Given the description of an element on the screen output the (x, y) to click on. 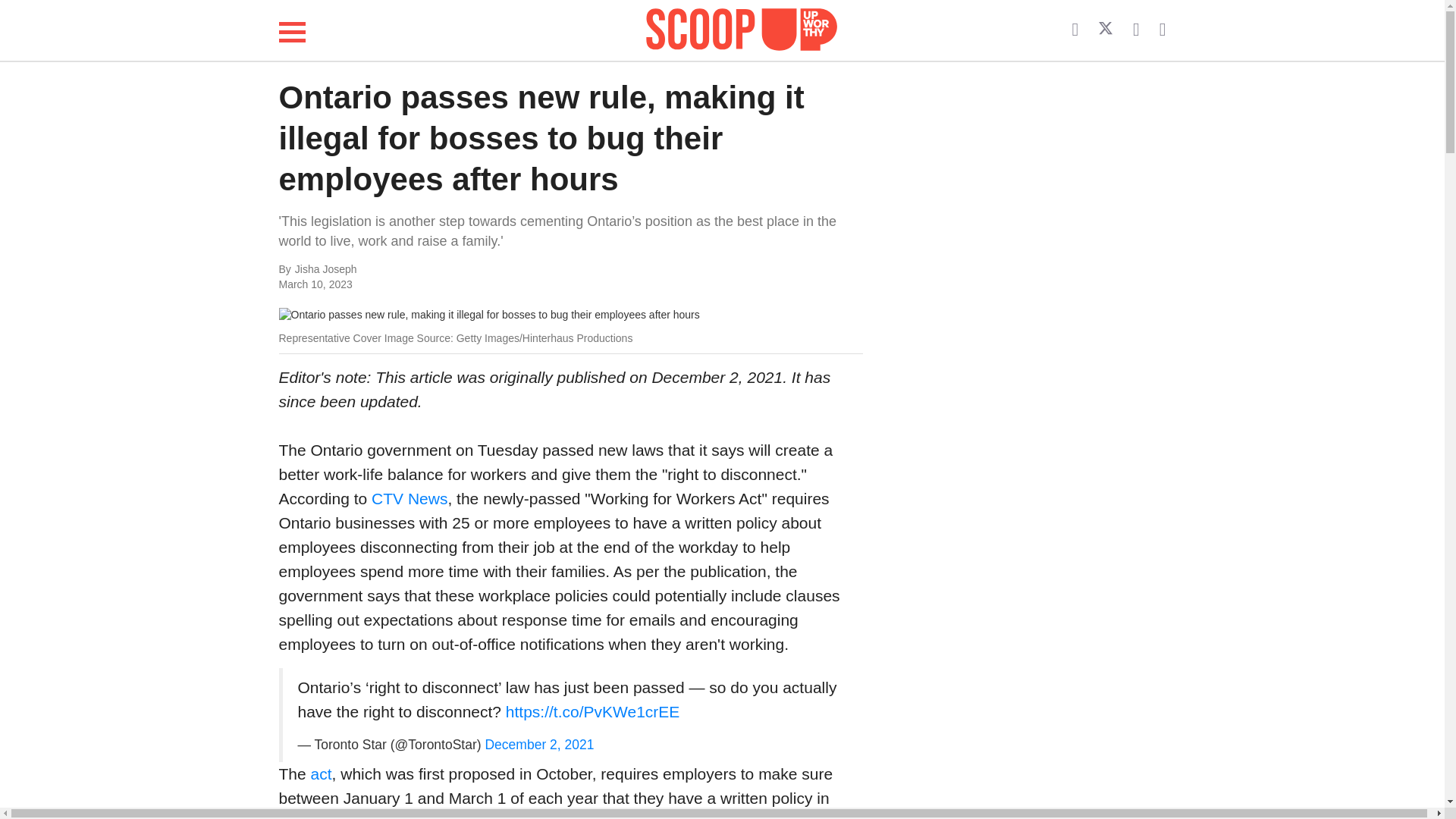
act (321, 773)
Jisha Joseph (445, 269)
SCOOP UPWORTHY (741, 29)
CTV News (408, 497)
December 2, 2021 (539, 744)
SCOOP UPWORTHY (741, 27)
